Given the description of an element on the screen output the (x, y) to click on. 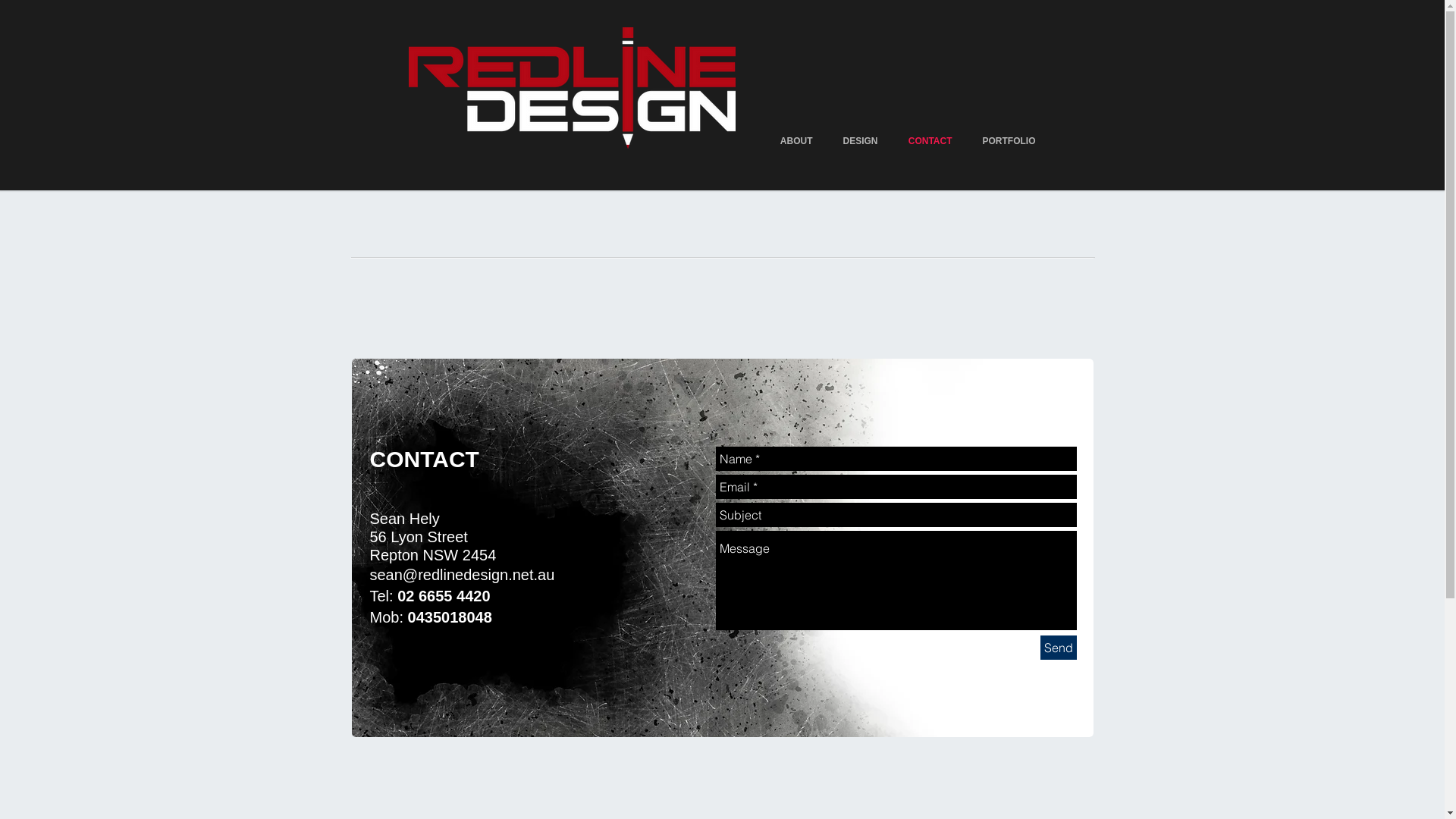
PORTFOLIO Element type: text (1009, 140)
DESIGN Element type: text (860, 140)
CONTACT Element type: text (930, 140)
ABOUT Element type: text (795, 140)
Send Element type: text (1058, 647)
sean@redlinedesign.net.au Element type: text (462, 574)
